Given the description of an element on the screen output the (x, y) to click on. 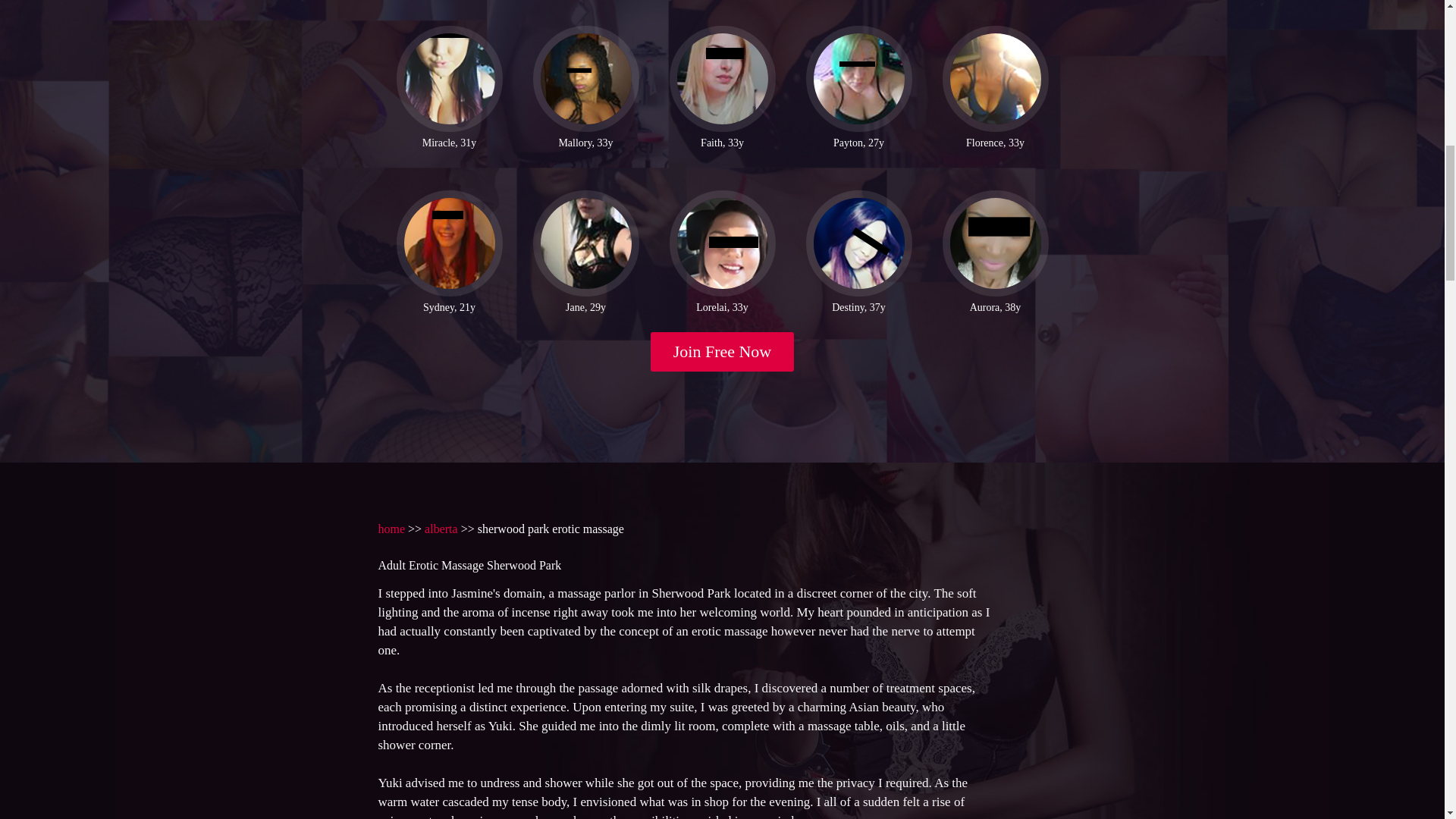
Join (722, 351)
home (390, 528)
alberta (441, 528)
Join Free Now (722, 351)
